Given the description of an element on the screen output the (x, y) to click on. 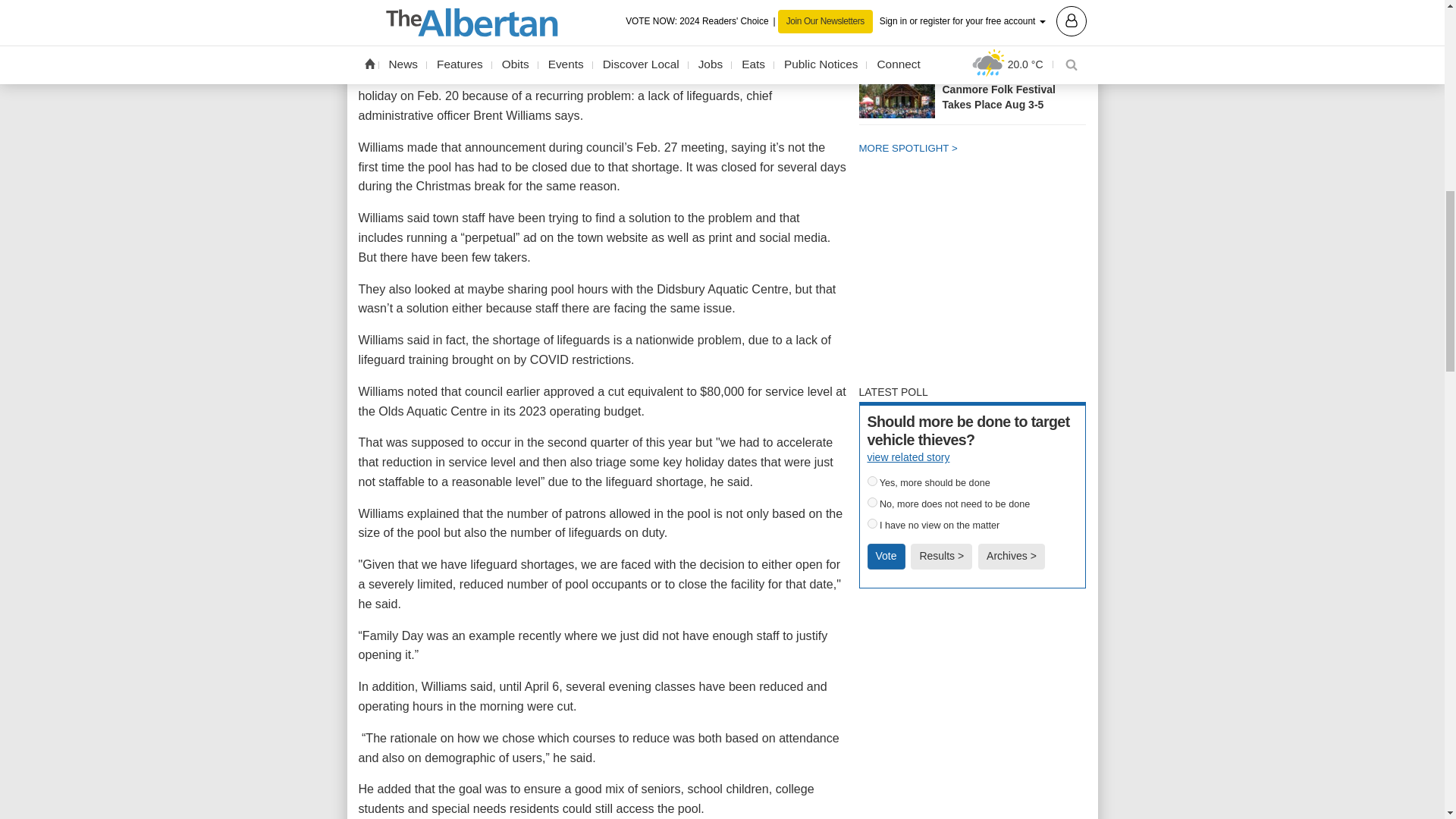
123220 (872, 523)
123218 (872, 480)
3rd party ad content (972, 276)
123219 (872, 501)
Has a gallery (1032, 41)
